Given the description of an element on the screen output the (x, y) to click on. 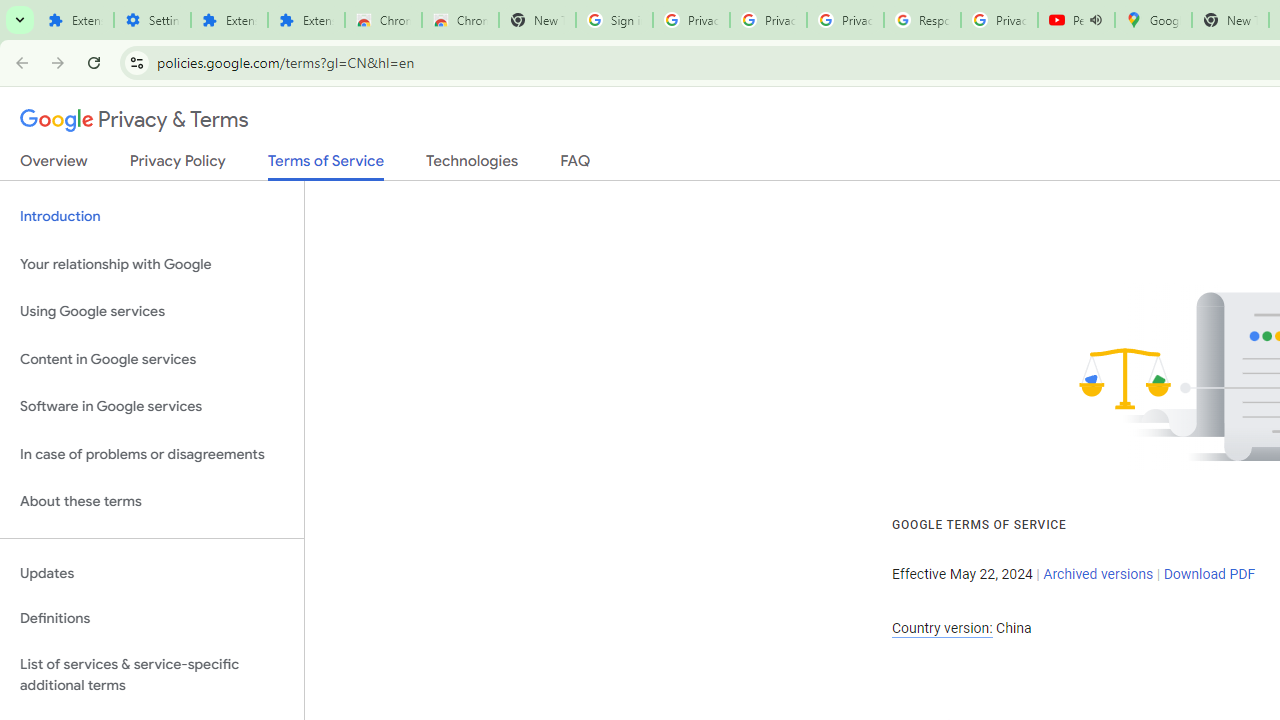
New Tab (1229, 20)
List of services & service-specific additional terms (152, 674)
Download PDF (1209, 574)
Sign in - Google Accounts (614, 20)
Country version: (942, 628)
New Tab (537, 20)
Extensions (75, 20)
Google Maps (1152, 20)
Settings (151, 20)
Extensions (306, 20)
